Given the description of an element on the screen output the (x, y) to click on. 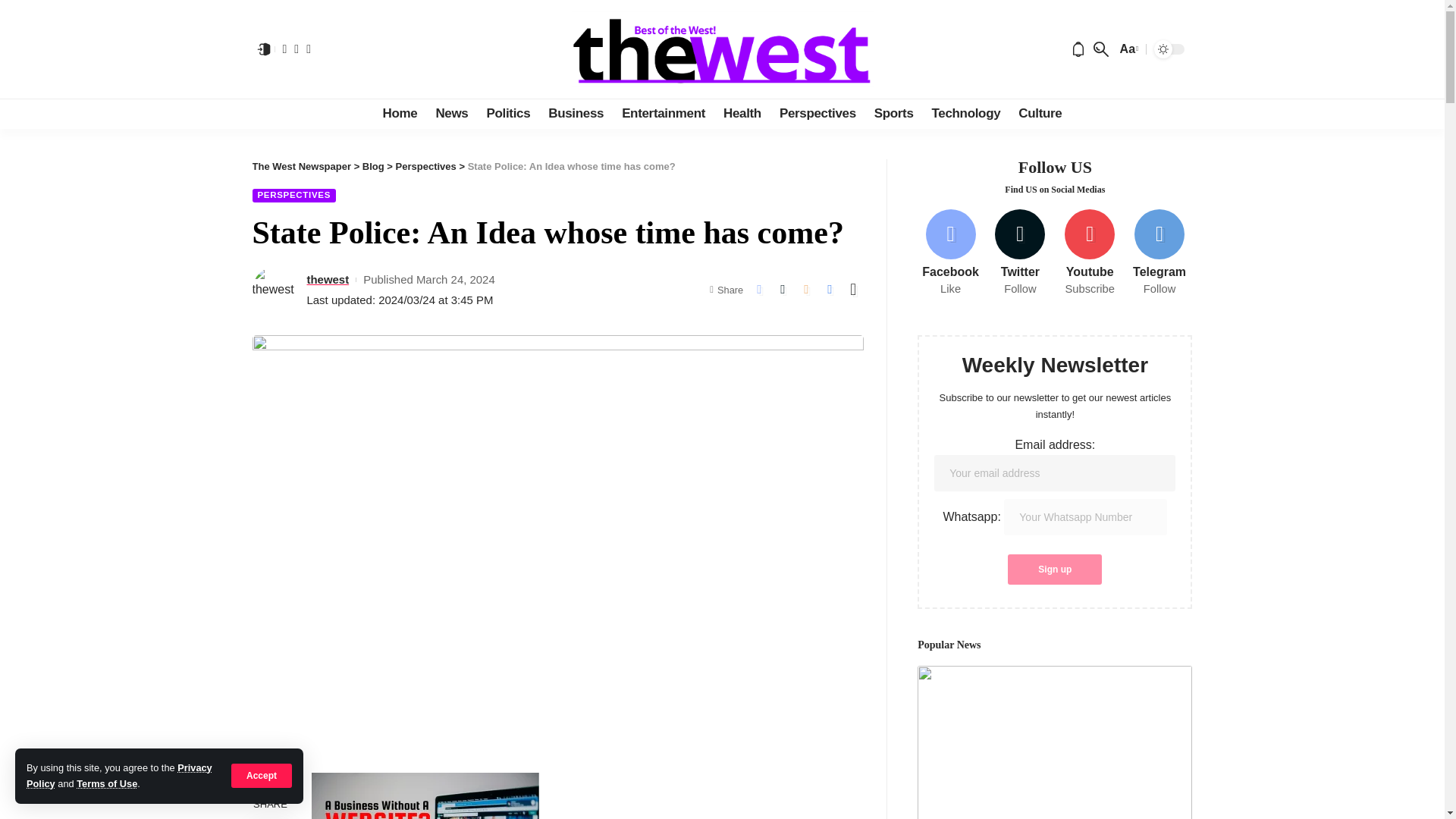
Go to Blog. (373, 165)
Technology (966, 113)
Perspectives (817, 113)
Go to The West Newspaper. (300, 165)
The West Newspaper (721, 48)
Business (575, 113)
Entertainment (663, 113)
Sports (893, 113)
News (451, 113)
Politics (508, 113)
Aa (1127, 48)
Health (742, 113)
Sign up (1054, 569)
Go to the Perspectives Category archives. (426, 165)
